Given the description of an element on the screen output the (x, y) to click on. 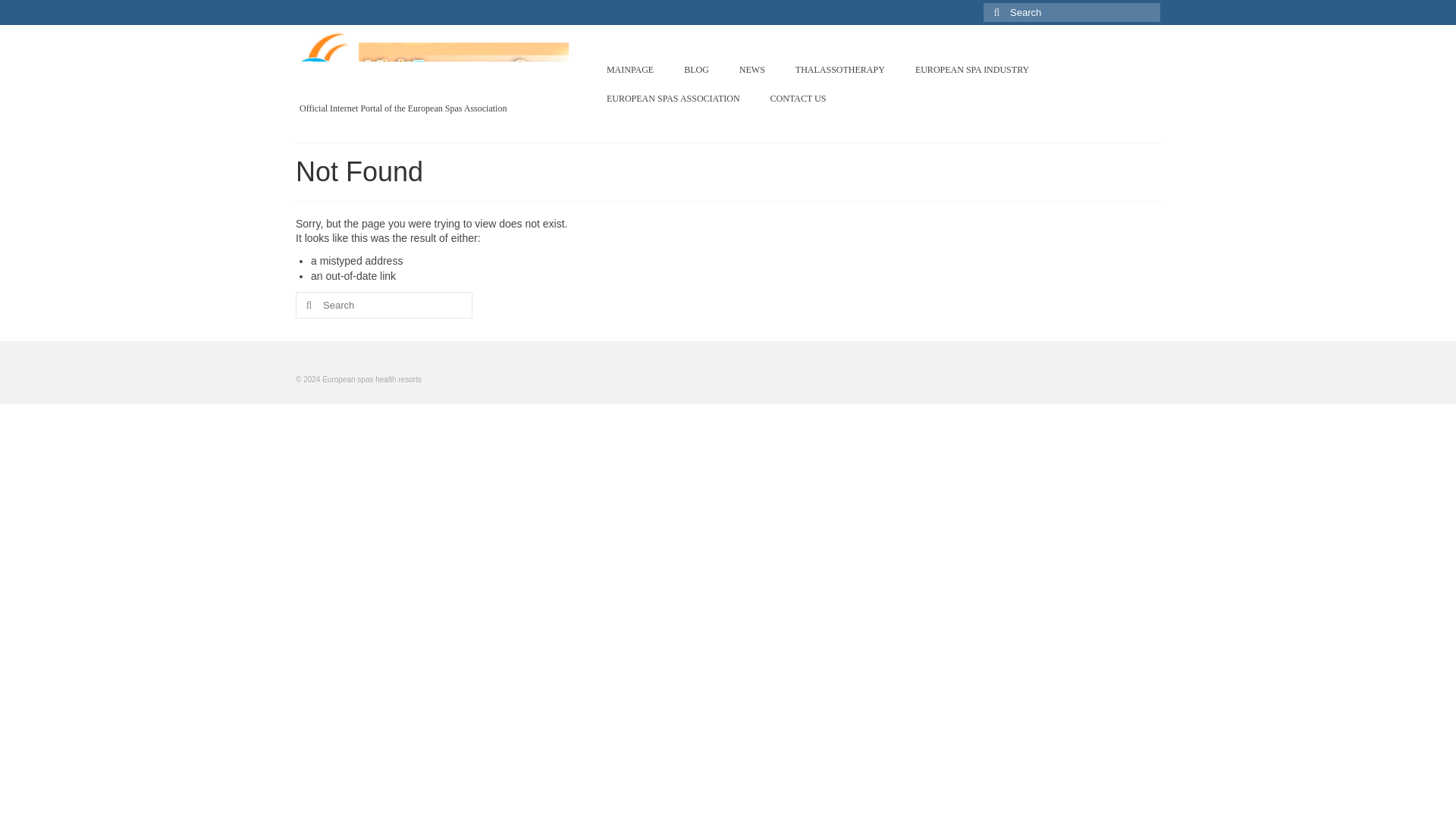
EUROPEAN SPAS ASSOCIATION (673, 98)
MAINPAGE (629, 69)
NEWS (751, 69)
BLOG (695, 69)
THALASSOTHERAPY (839, 69)
CONTACT US (798, 98)
EUROPEAN SPA INDUSTRY (971, 69)
